Given the description of an element on the screen output the (x, y) to click on. 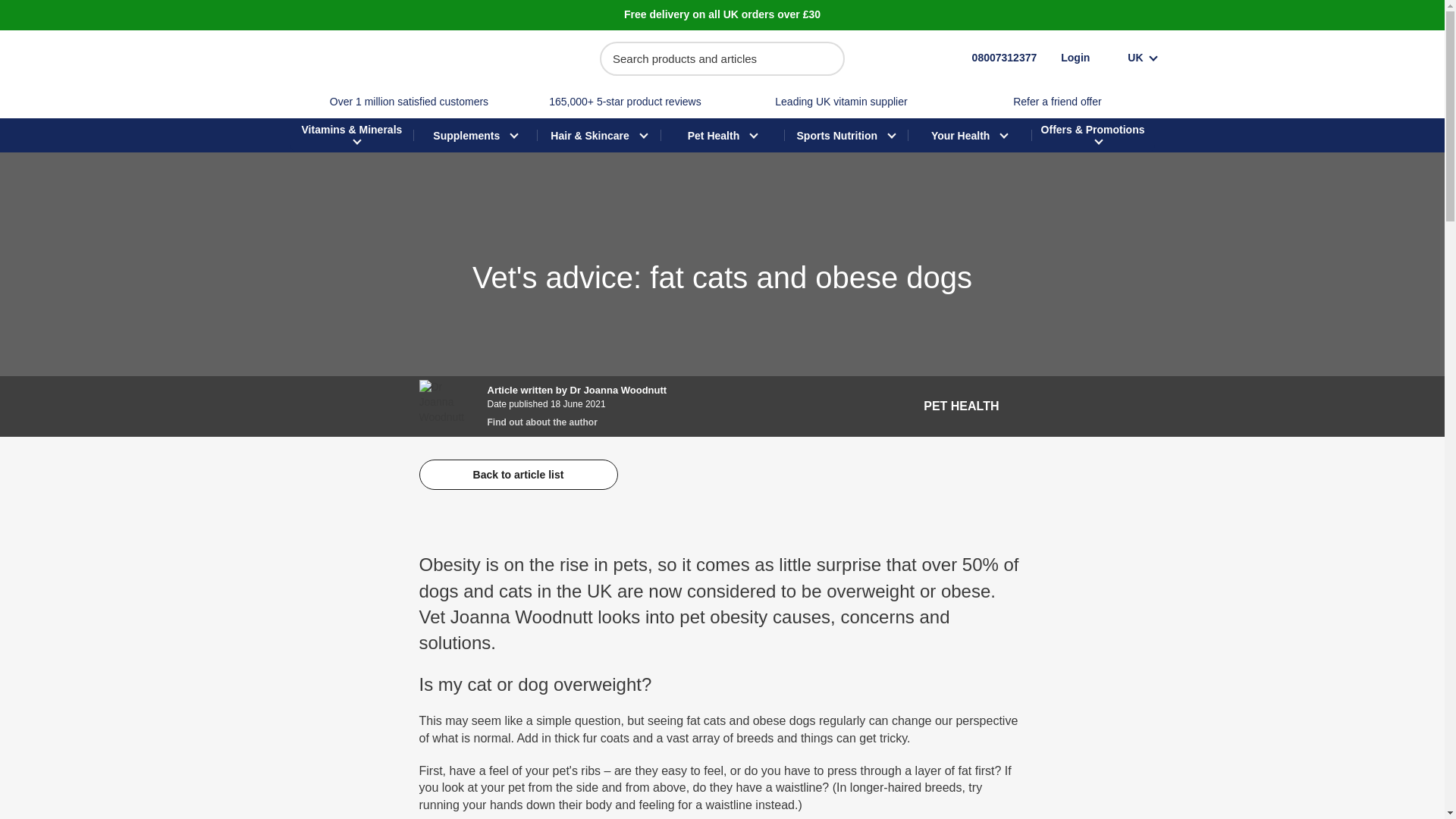
Refer a friend offer (1056, 101)
Over 1 million satisfied customers (408, 101)
Leading UK vitamin supplier (840, 101)
Leading UK direct vitamin supplier (840, 101)
Delivery (722, 14)
08007312377 (989, 57)
Login (1075, 57)
Search products and articles (721, 58)
Healthspan (365, 57)
Reviews (624, 101)
Over 1 million satisfied customers (408, 101)
Refer a friend (1056, 101)
Login (1075, 57)
